Given the description of an element on the screen output the (x, y) to click on. 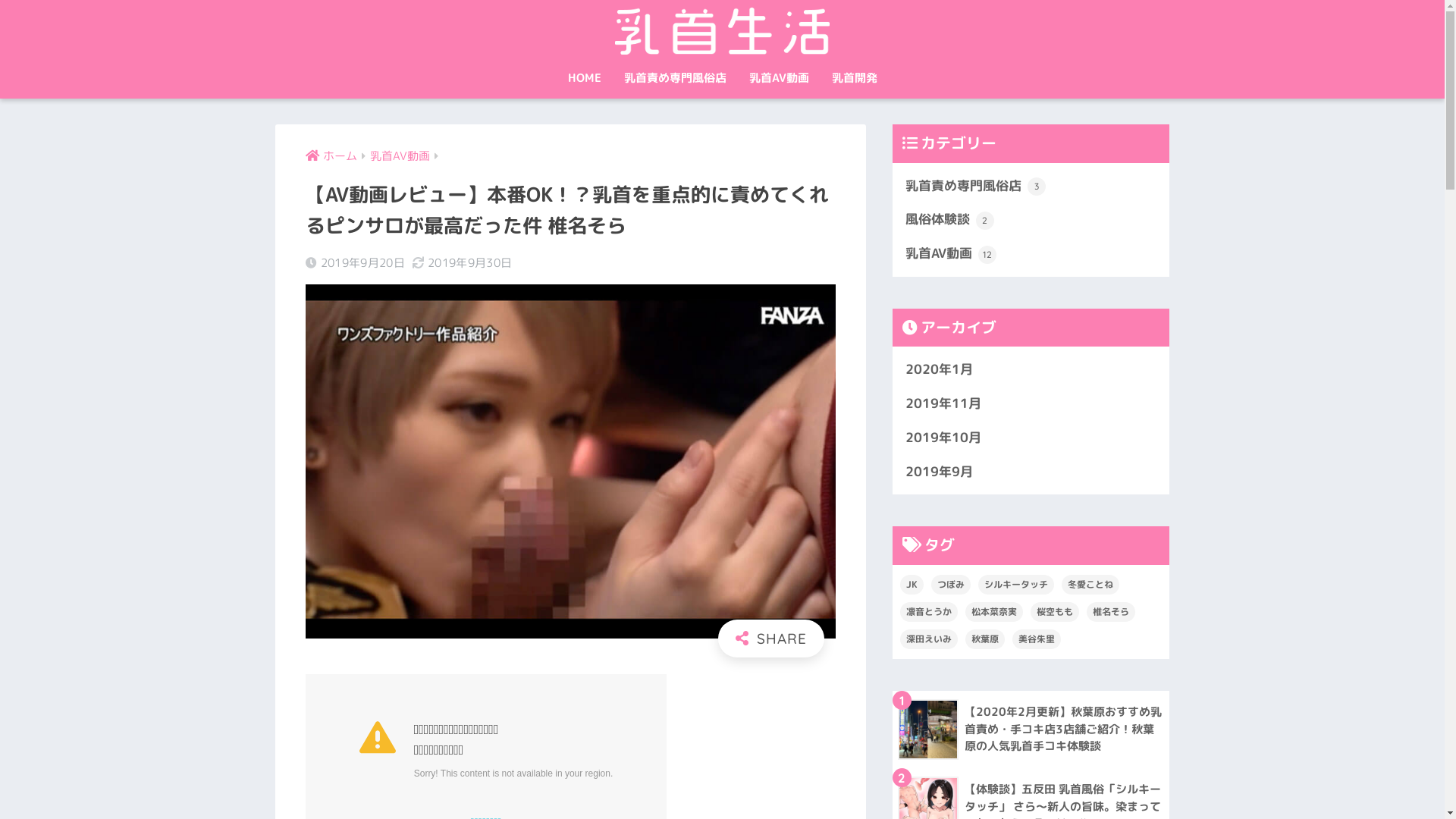
on Element type: text (4, 4)
JK Element type: text (911, 584)
HOME Element type: text (584, 80)
